Given the description of an element on the screen output the (x, y) to click on. 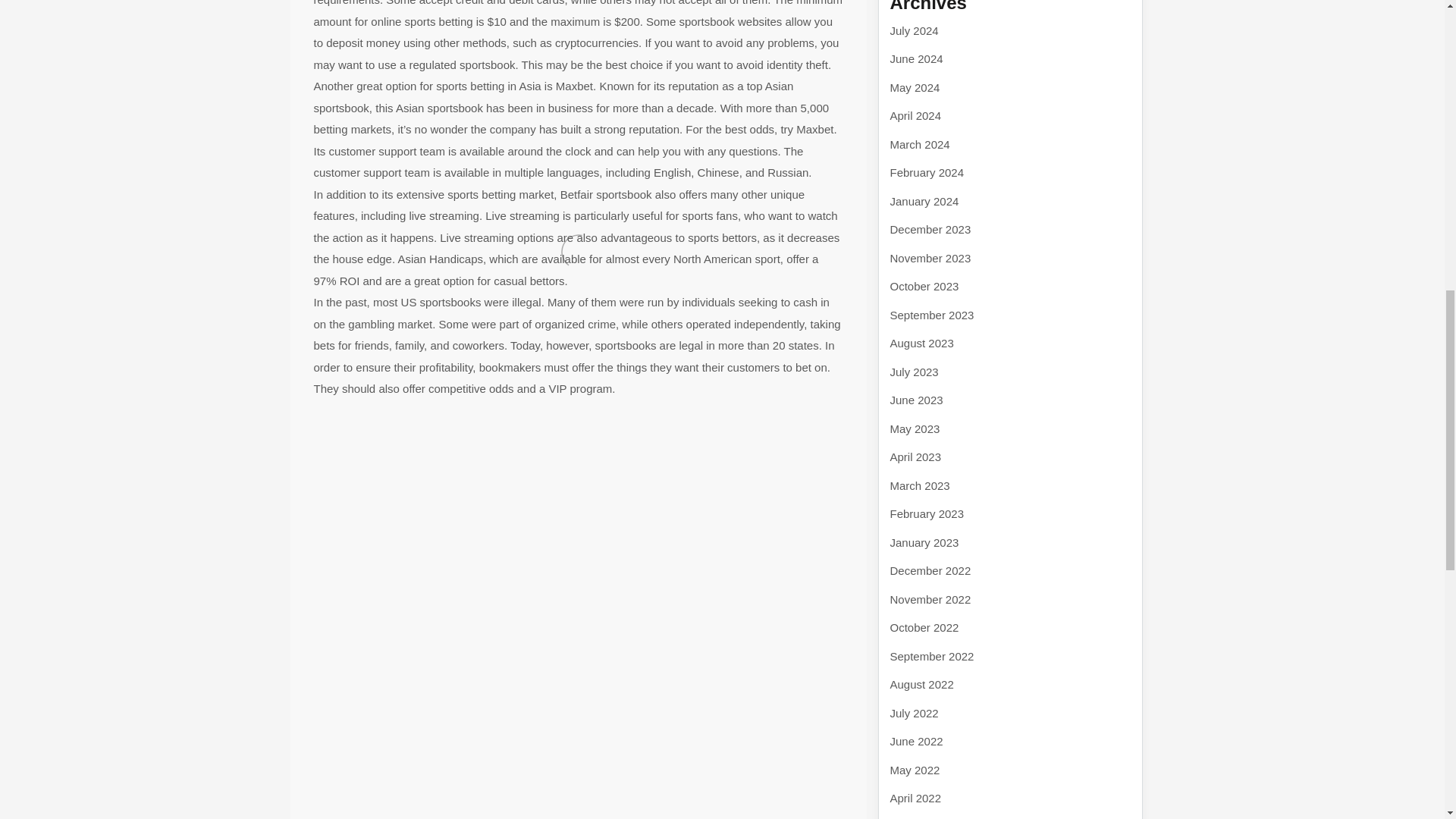
May 2023 (914, 427)
October 2023 (924, 286)
June 2023 (916, 399)
February 2024 (926, 172)
December 2023 (930, 228)
July 2022 (914, 712)
August 2022 (921, 684)
February 2023 (926, 513)
November 2023 (930, 257)
December 2022 (930, 570)
October 2022 (924, 626)
July 2023 (914, 371)
January 2024 (924, 200)
March 2024 (919, 144)
July 2024 (914, 30)
